Given the description of an element on the screen output the (x, y) to click on. 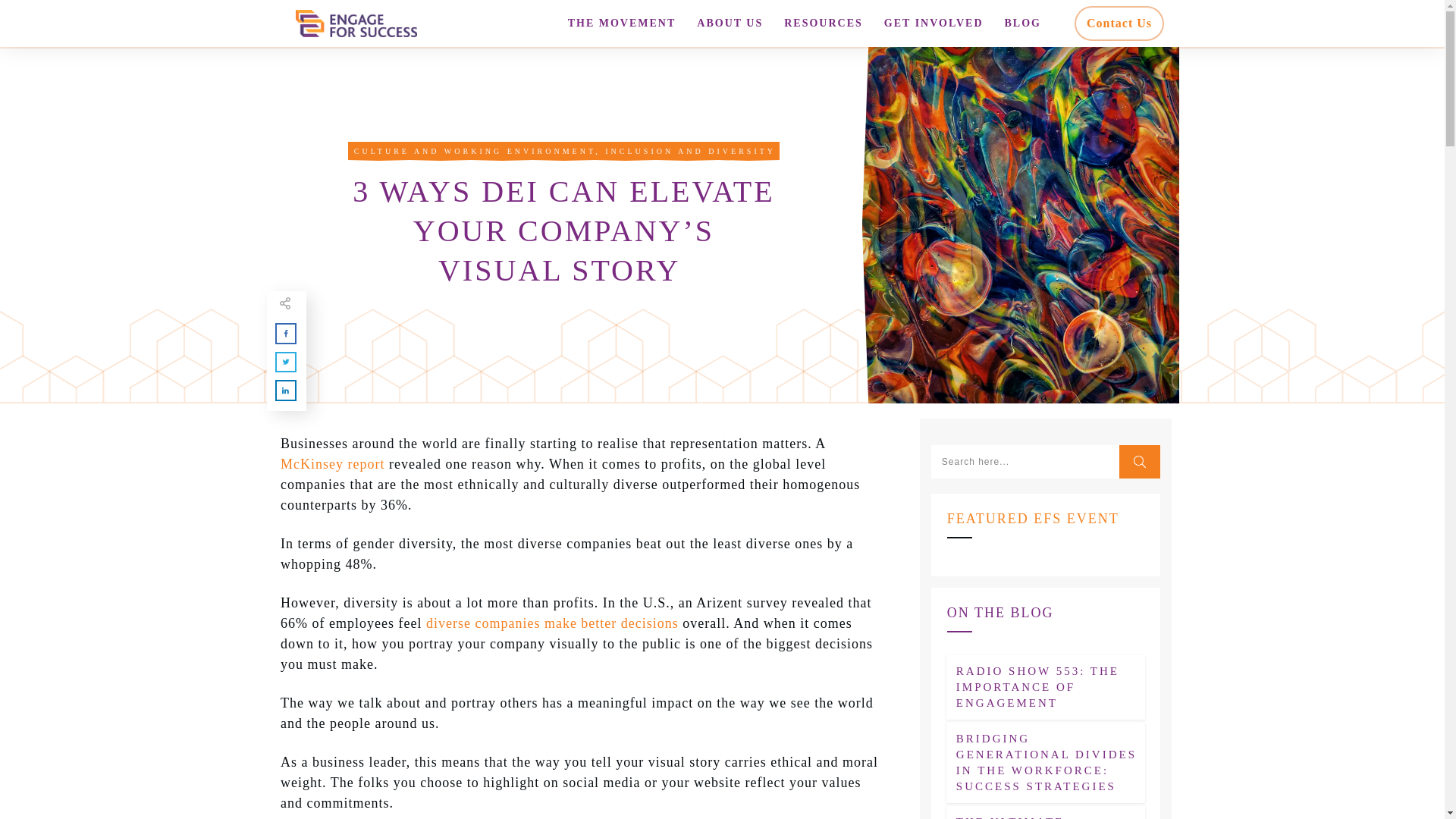
ABOUT US (729, 23)
RESOURCES (823, 23)
CULTURE AND WORKING ENVIRONMENT (474, 151)
INCLUSION AND DIVERSITY (690, 151)
McKinsey report (332, 463)
GET INVOLVED (933, 23)
Radio Show 553: The Importance of Engagement (1037, 687)
Contact Us (1118, 23)
BLOG (1022, 23)
